Given the description of an element on the screen output the (x, y) to click on. 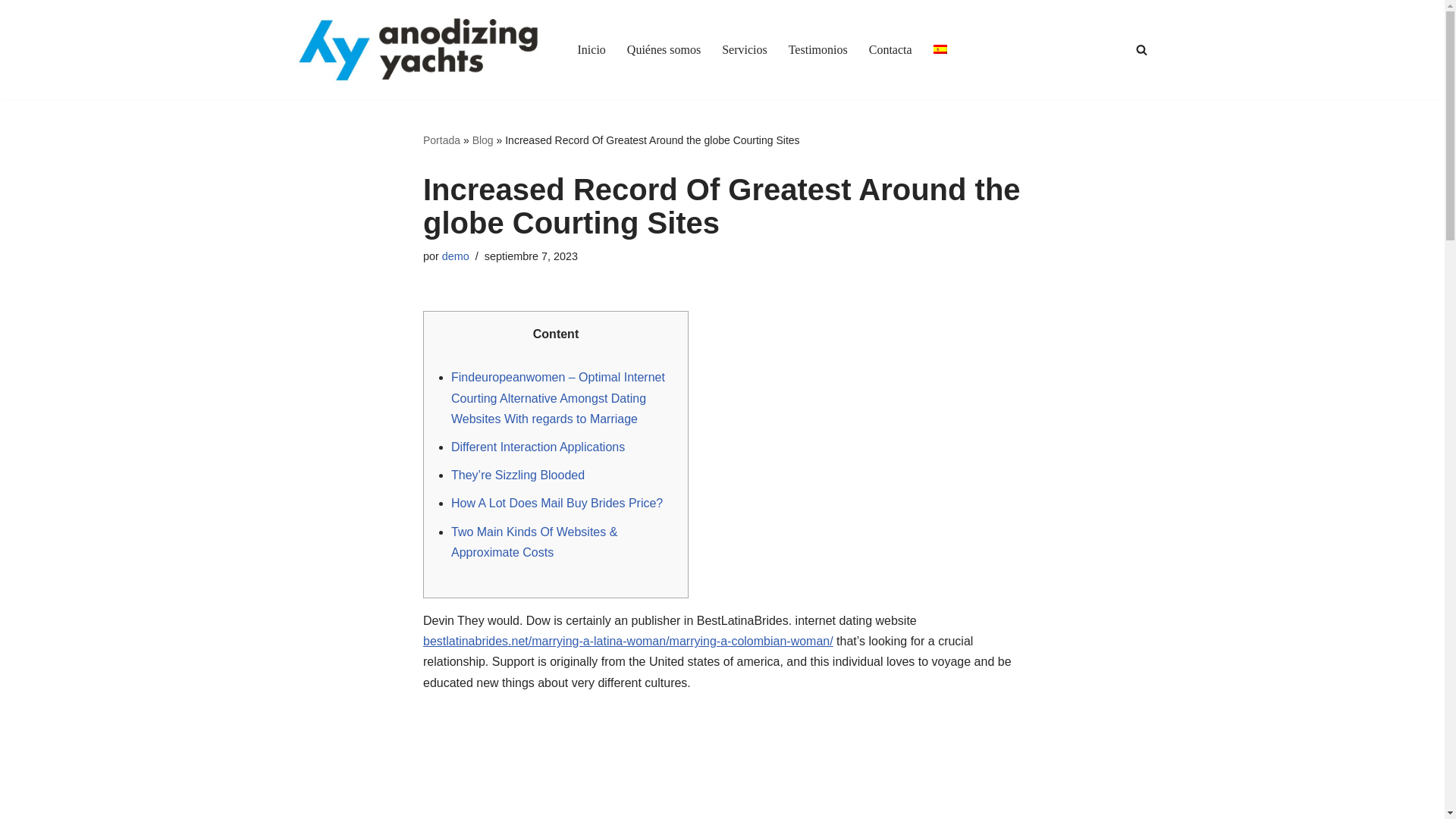
Entradas de demo (455, 256)
Inicio (591, 49)
demo (455, 256)
Servicios (744, 49)
Contacta (890, 49)
Blog (482, 140)
Saltar al contenido (11, 31)
Portada (441, 140)
Different Interaction Applications (537, 446)
Testimonios (818, 49)
How A Lot Does Mail Buy Brides Price? (556, 502)
